Given the description of an element on the screen output the (x, y) to click on. 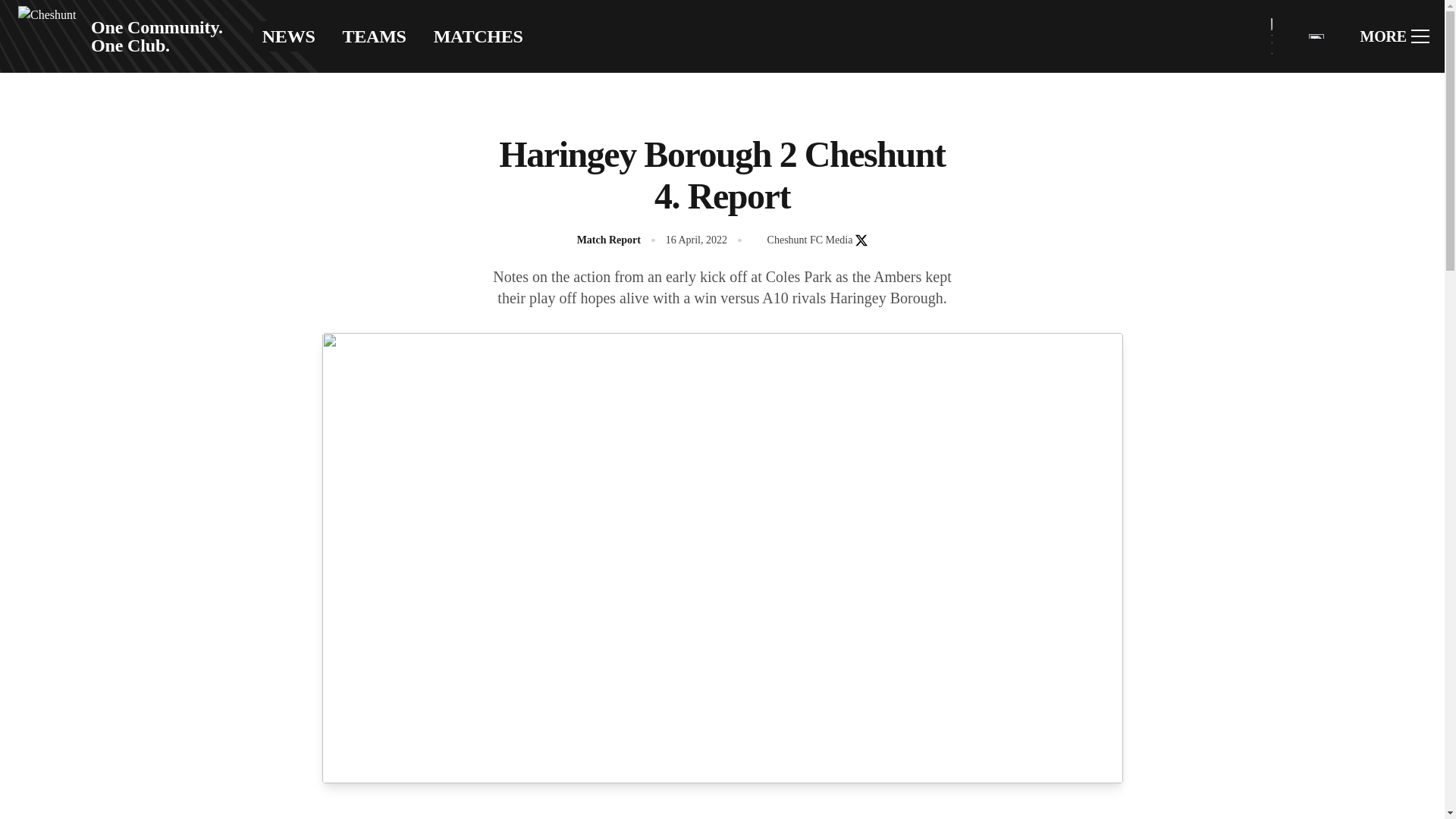
MATCHES (478, 36)
TEAMS (373, 36)
NEWS (288, 36)
